Given the description of an element on the screen output the (x, y) to click on. 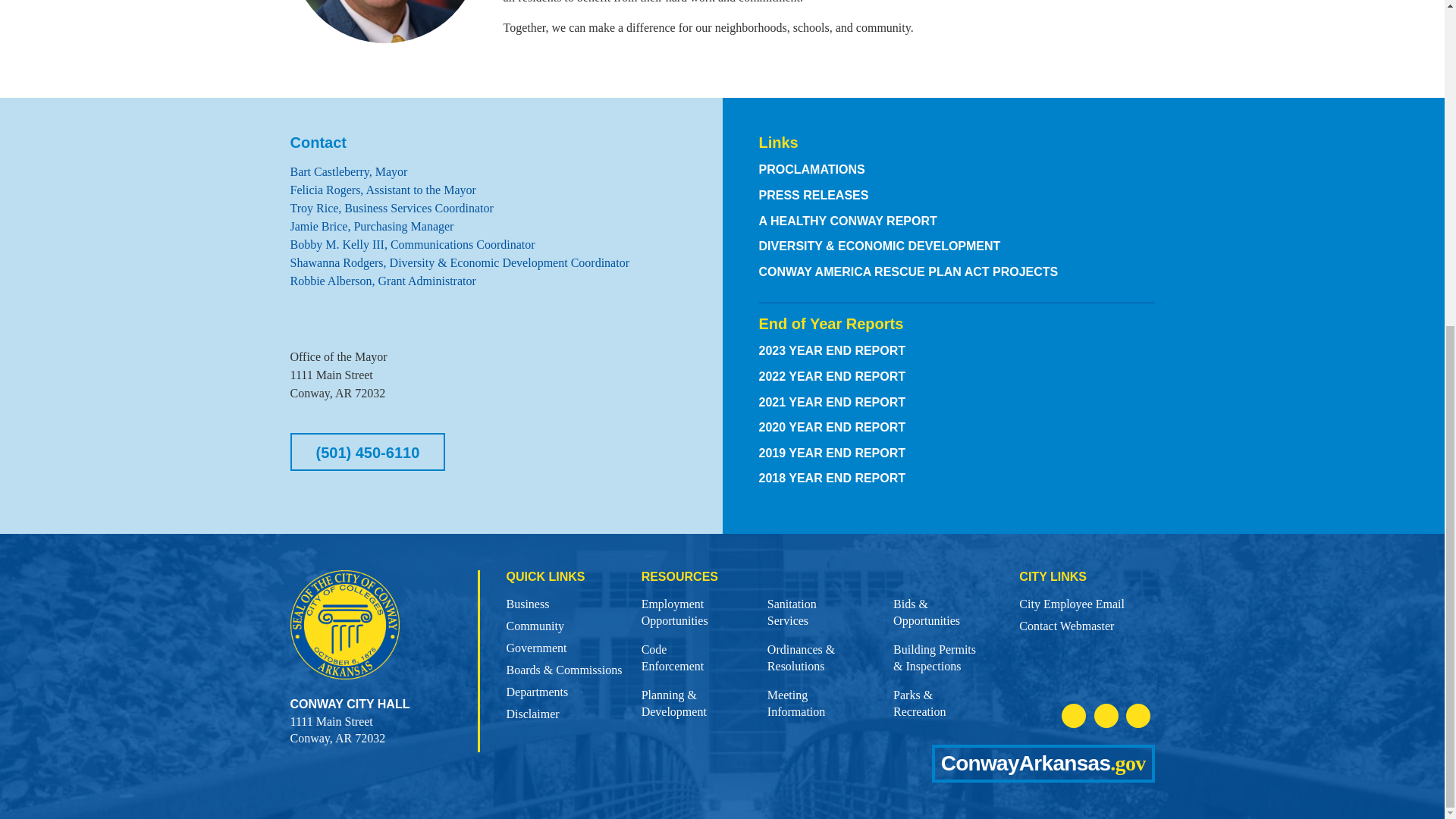
Departments (536, 691)
Bart Castleberry, Mayor (348, 171)
2019 YEAR END REPORT (831, 452)
Go to City of Conway Twitter (791, 612)
Go to City of Conway Instagram (1106, 715)
Felicia Rogers, Assistant to the Mayor (1137, 715)
Disclaimer (382, 189)
PRESS RELEASES (532, 713)
2022 YEAR END REPORT (812, 195)
